Given the description of an element on the screen output the (x, y) to click on. 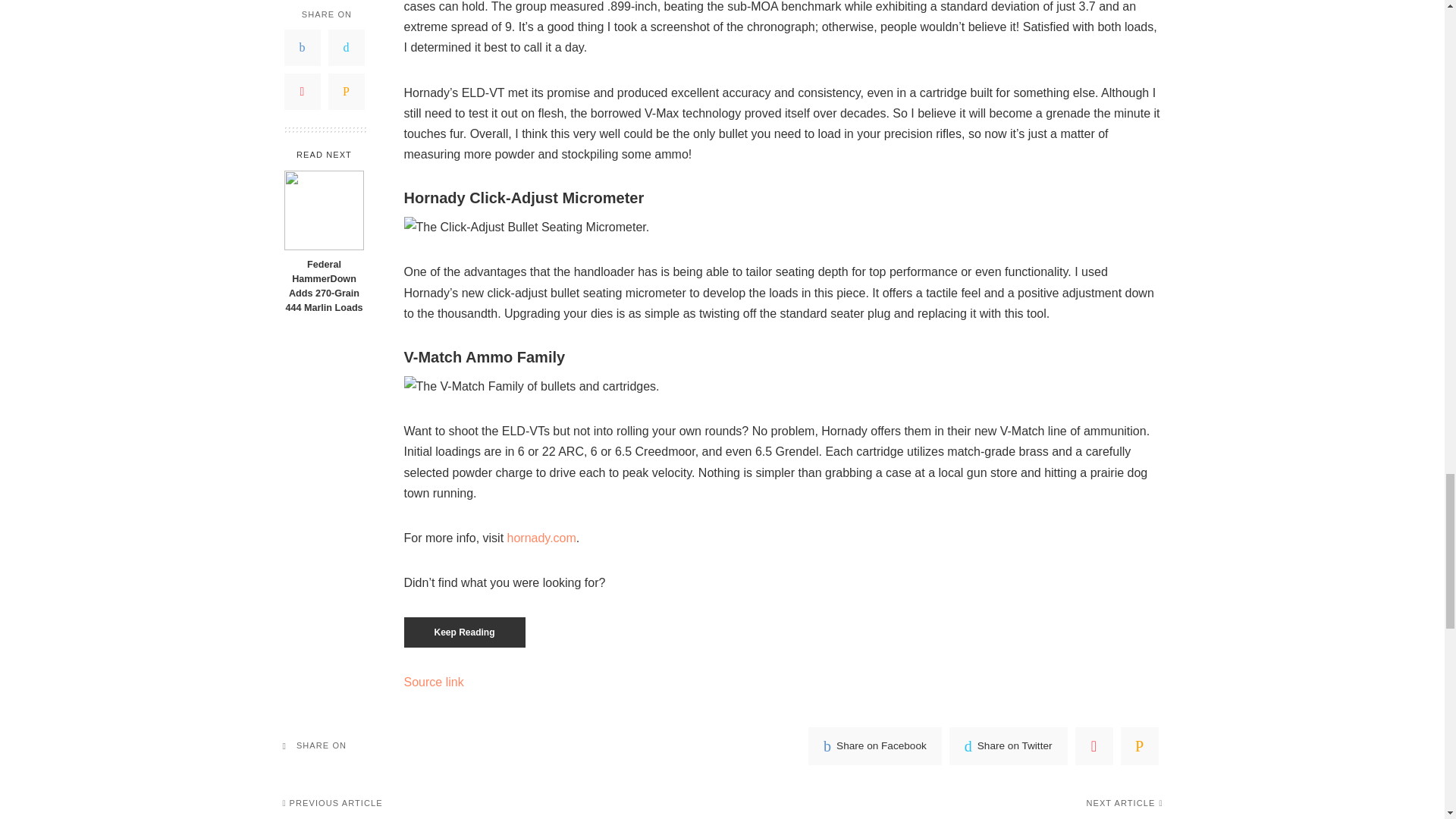
Pinterest (1094, 745)
Share on Facebook (875, 745)
Email (1139, 745)
Keep Reading (463, 632)
hornady.com (541, 537)
Facebook (875, 745)
Share on Twitter (1008, 745)
Twitter (1008, 745)
Source link (433, 681)
